Given the description of an element on the screen output the (x, y) to click on. 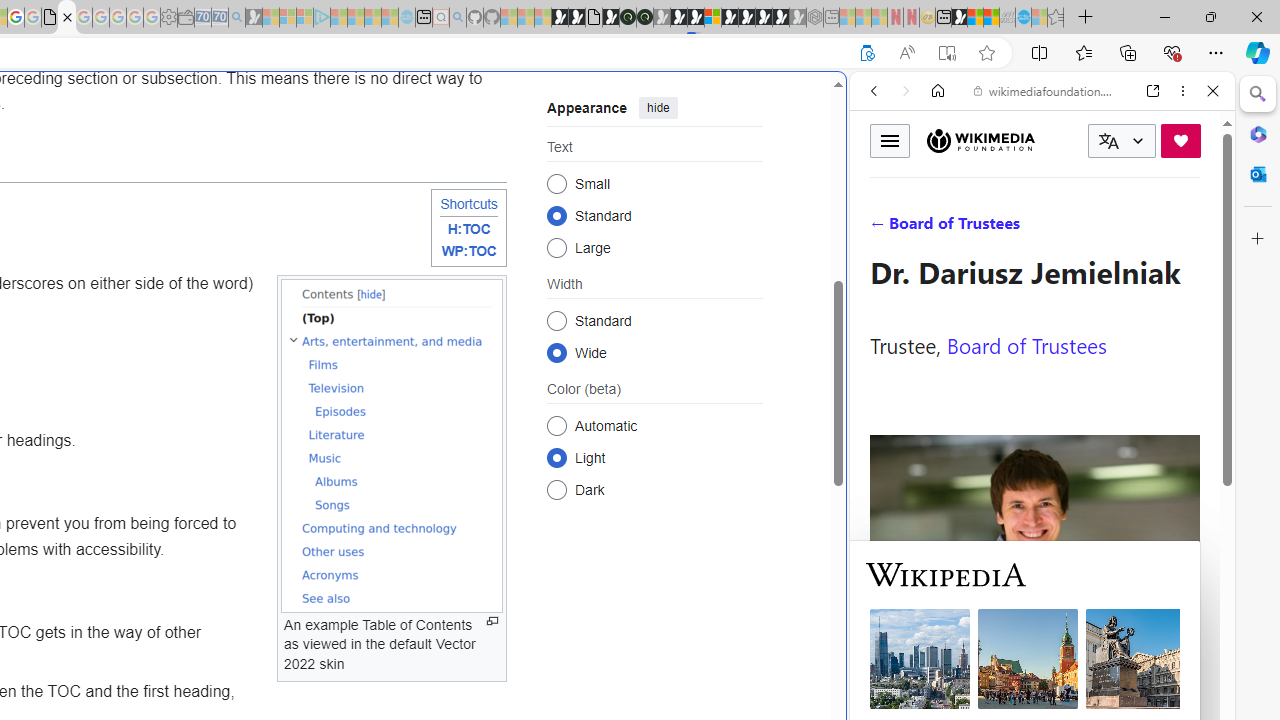
Shortcuts (468, 203)
Enter Immersive Reader (F9) (946, 53)
Wide (556, 352)
Play Cave FRVR in your browser | Games from Microsoft Start (343, 426)
Search Filter, IMAGES (939, 228)
Frequently visited (418, 265)
hide (658, 107)
CURRENT LANGUAGE: (1121, 141)
